Given the description of an element on the screen output the (x, y) to click on. 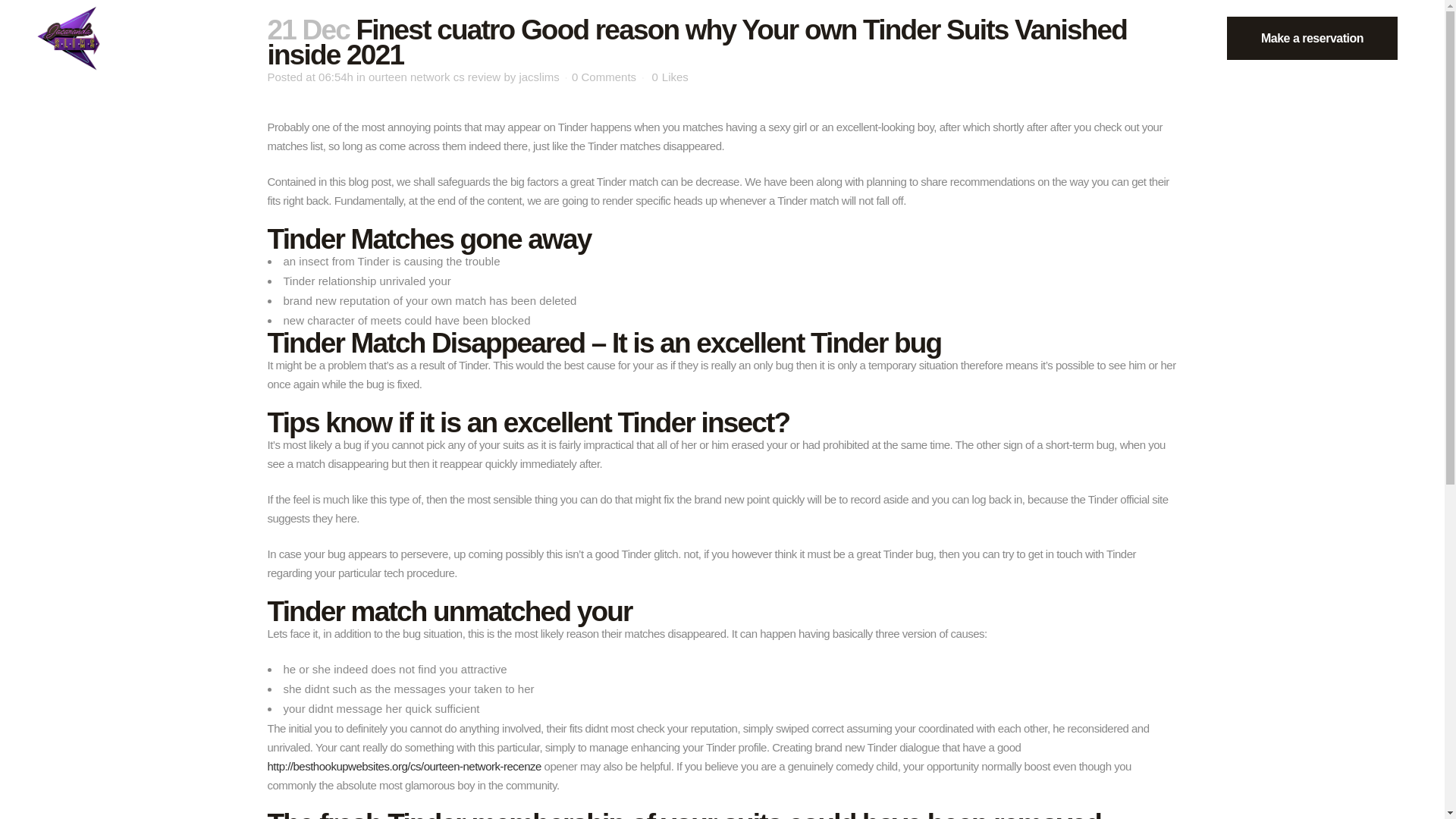
jacslims (538, 76)
The Story (141, 38)
0 Likes (670, 77)
ourteen network cs review (434, 76)
0 Comments (604, 76)
Like this (670, 77)
Make a reservation (1312, 37)
